Given the description of an element on the screen output the (x, y) to click on. 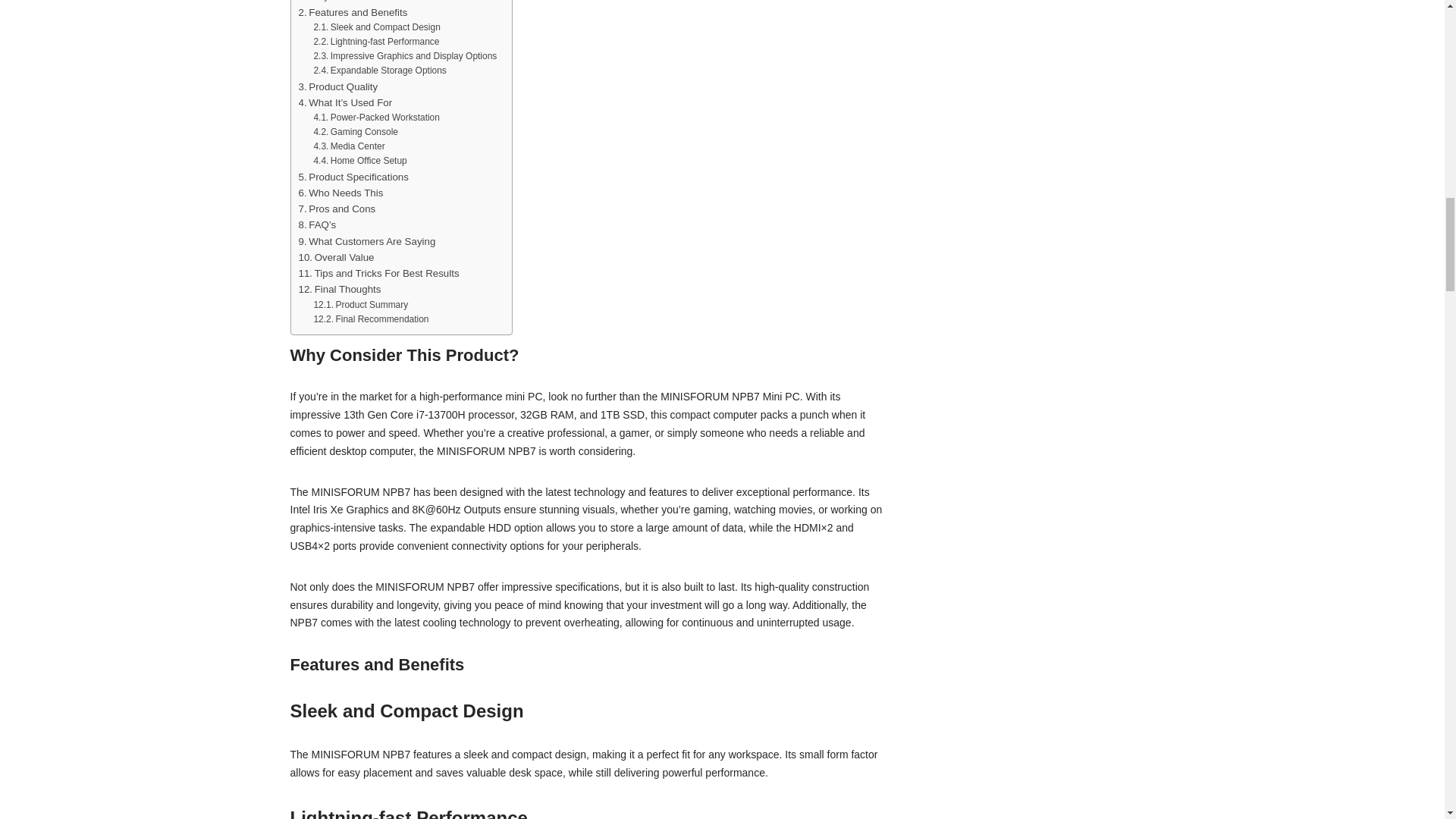
Home Office Setup (359, 160)
Why Consider This Product? (368, 2)
Media Center (348, 146)
Impressive Graphics and Display Options (404, 56)
Power-Packed Workstation (376, 117)
Sleek and Compact Design (376, 27)
Features and Benefits (352, 12)
Sleek and Compact Design (376, 27)
Why Consider This Product? (368, 2)
Lightning-fast Performance (376, 42)
Lightning-fast Performance (376, 42)
Product Specifications (353, 176)
Gaming Console (355, 132)
Features and Benefits (352, 12)
Product Quality (338, 86)
